Given the description of an element on the screen output the (x, y) to click on. 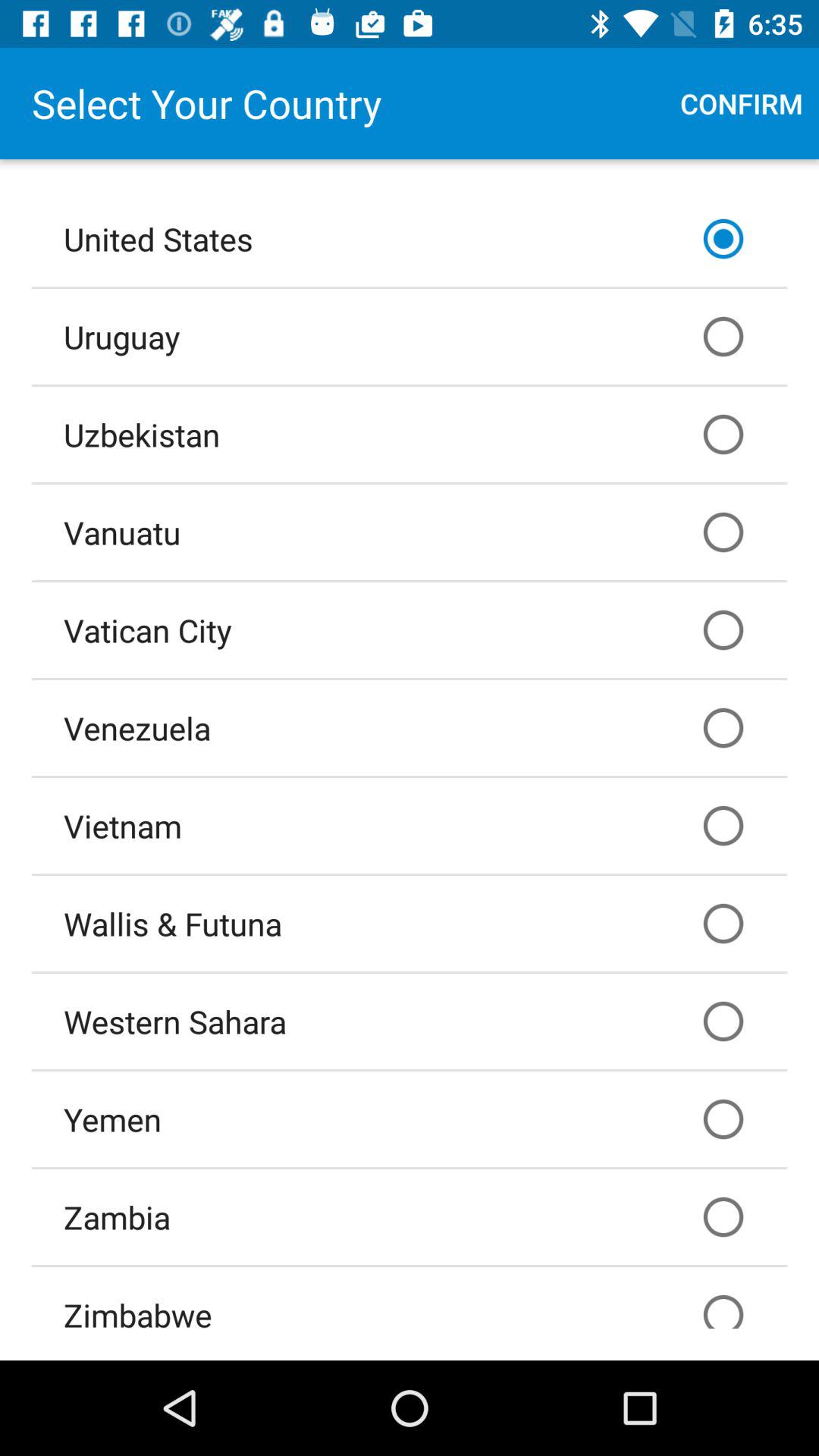
turn on the item below venezuela item (409, 825)
